Given the description of an element on the screen output the (x, y) to click on. 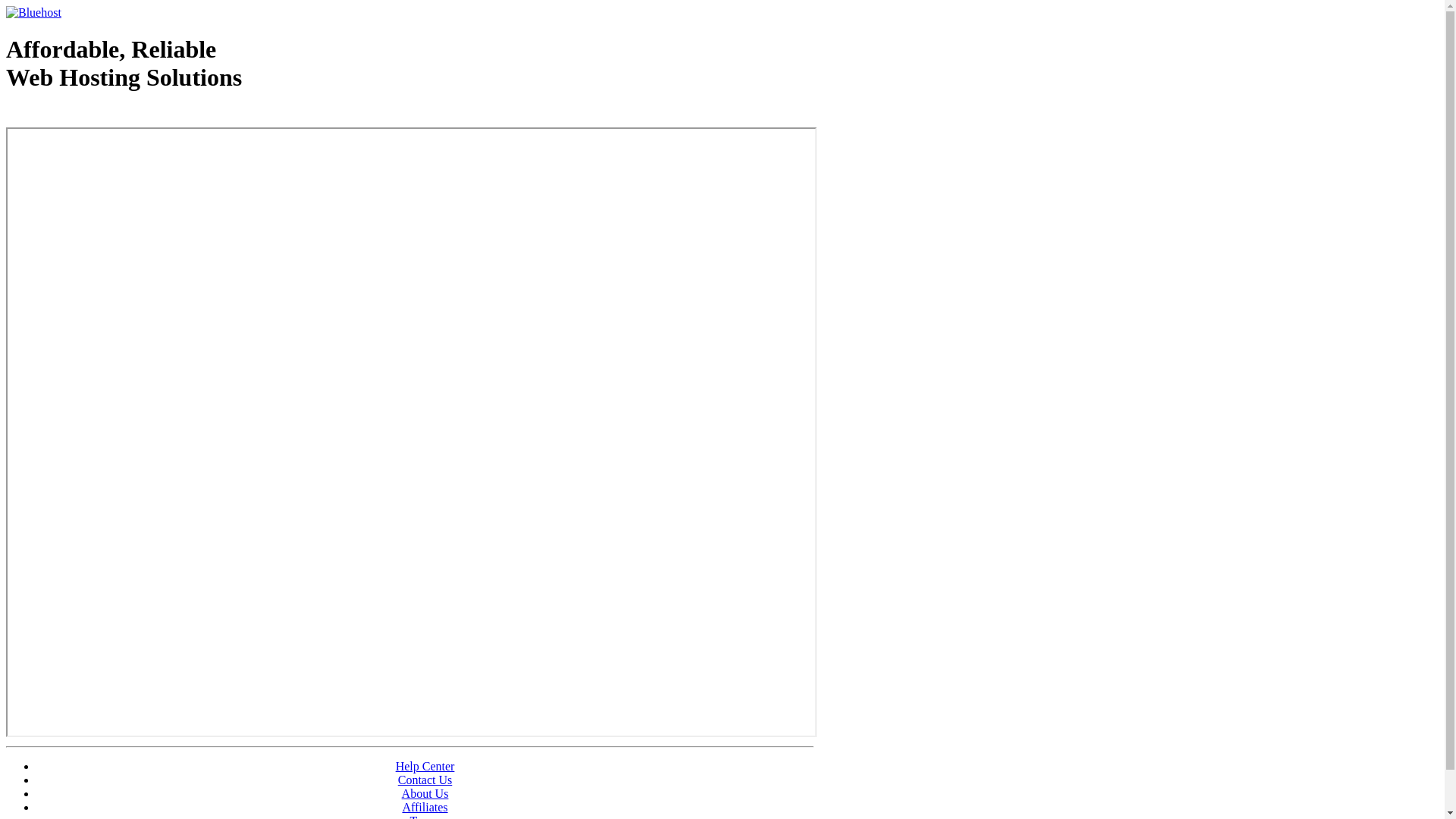
Help Center Element type: text (425, 765)
About Us Element type: text (424, 793)
Web Hosting - courtesy of www.bluehost.com Element type: text (94, 115)
Contact Us Element type: text (425, 779)
Affiliates Element type: text (424, 806)
